Given the description of an element on the screen output the (x, y) to click on. 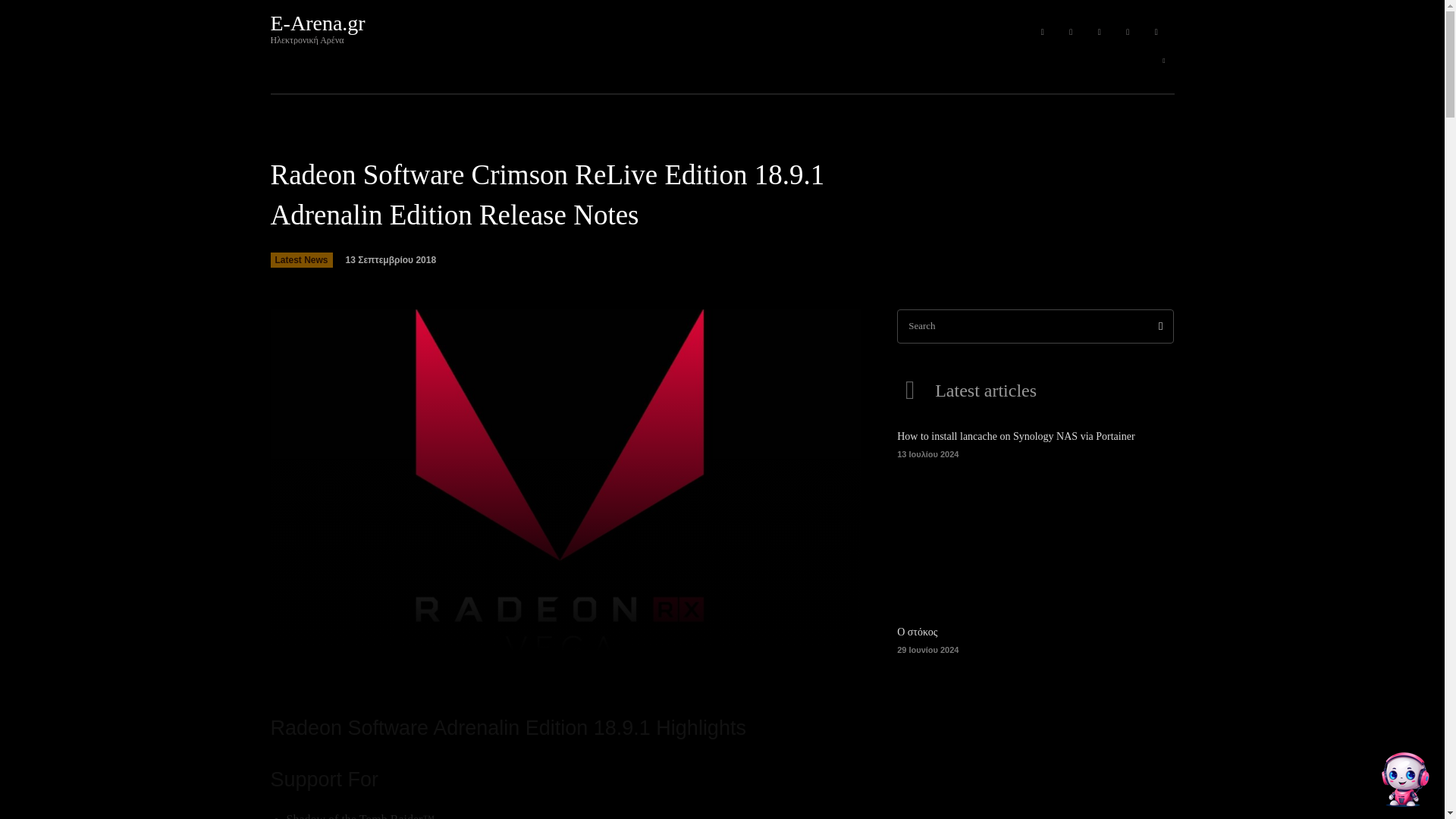
Twitter (1128, 32)
Youtube (1070, 32)
Twitch (1099, 32)
Discord (1042, 32)
